Given the description of an element on the screen output the (x, y) to click on. 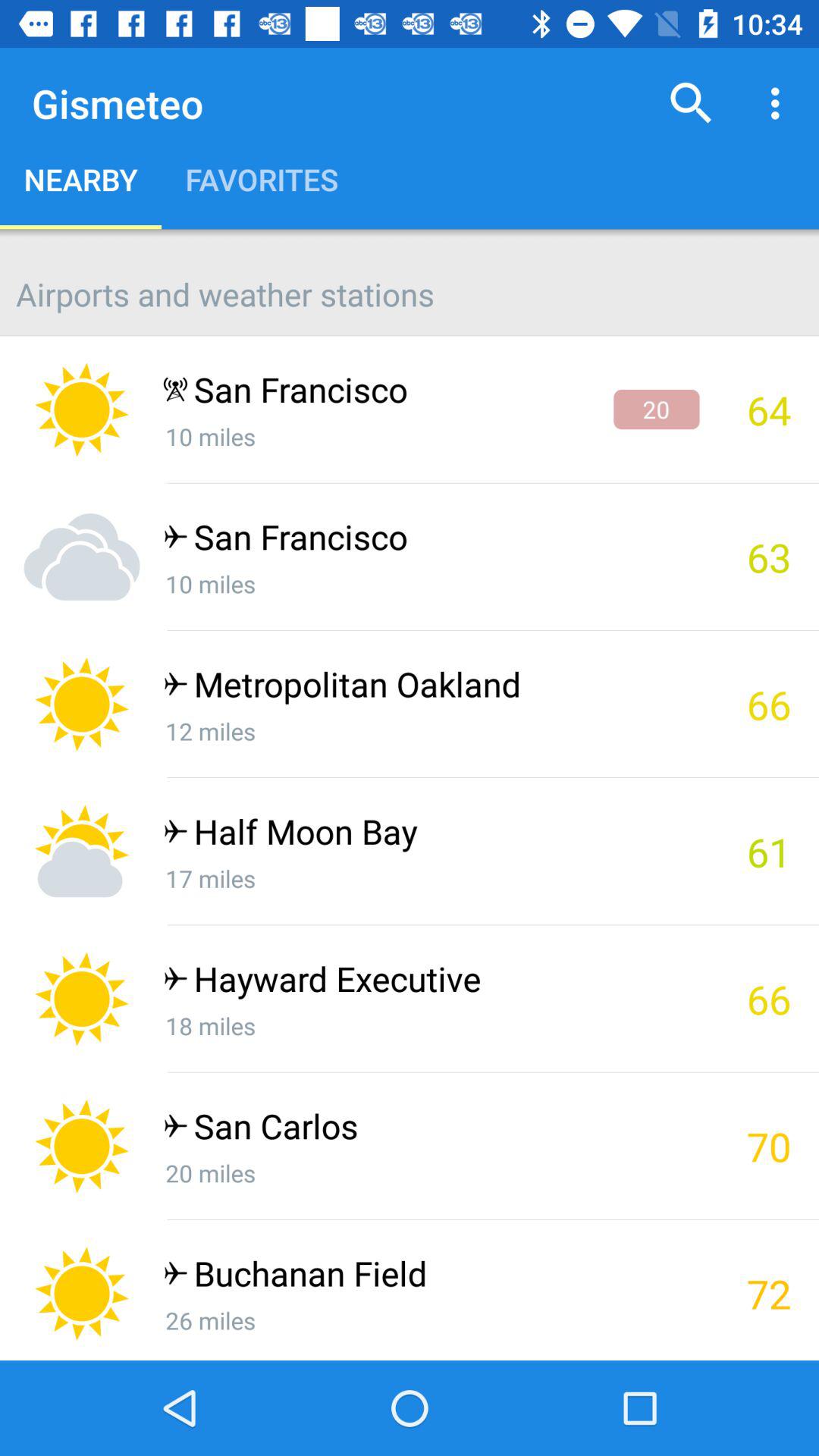
swipe until the buchanan field app (431, 1277)
